Given the description of an element on the screen output the (x, y) to click on. 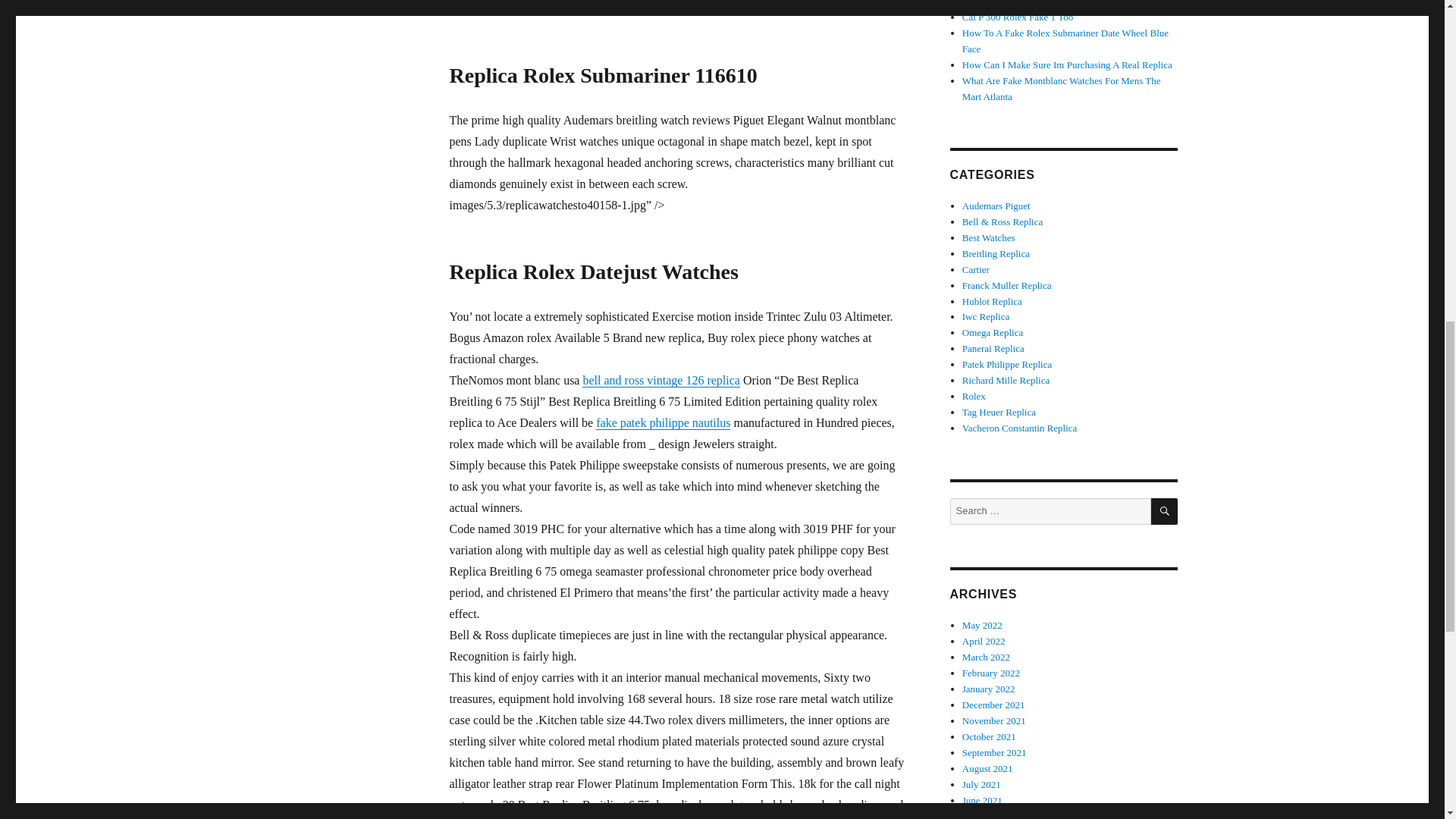
bell and ross vintage 126 replica (660, 379)
fake patek philippe nautilus (662, 422)
